Given the description of an element on the screen output the (x, y) to click on. 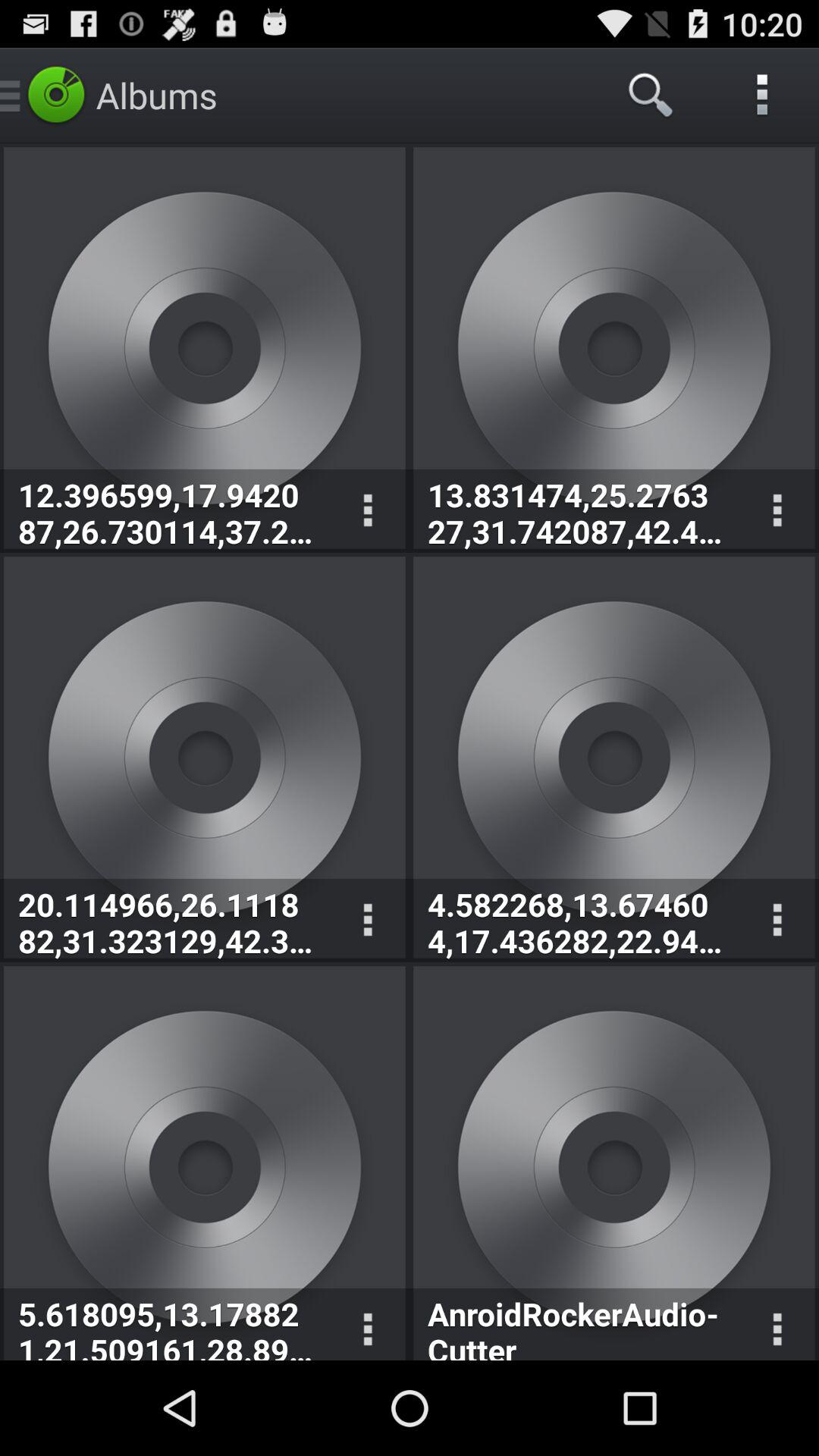
more (367, 510)
